Given the description of an element on the screen output the (x, y) to click on. 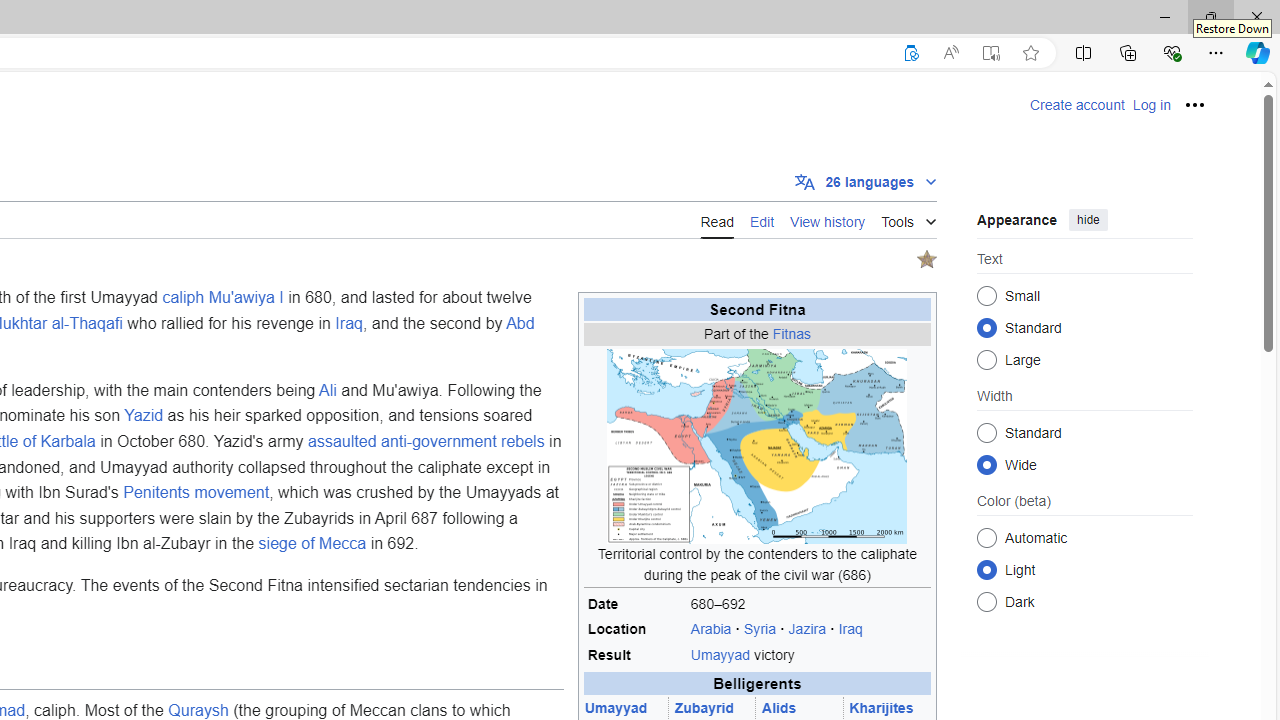
Support Wikipedia? (910, 53)
